Given the description of an element on the screen output the (x, y) to click on. 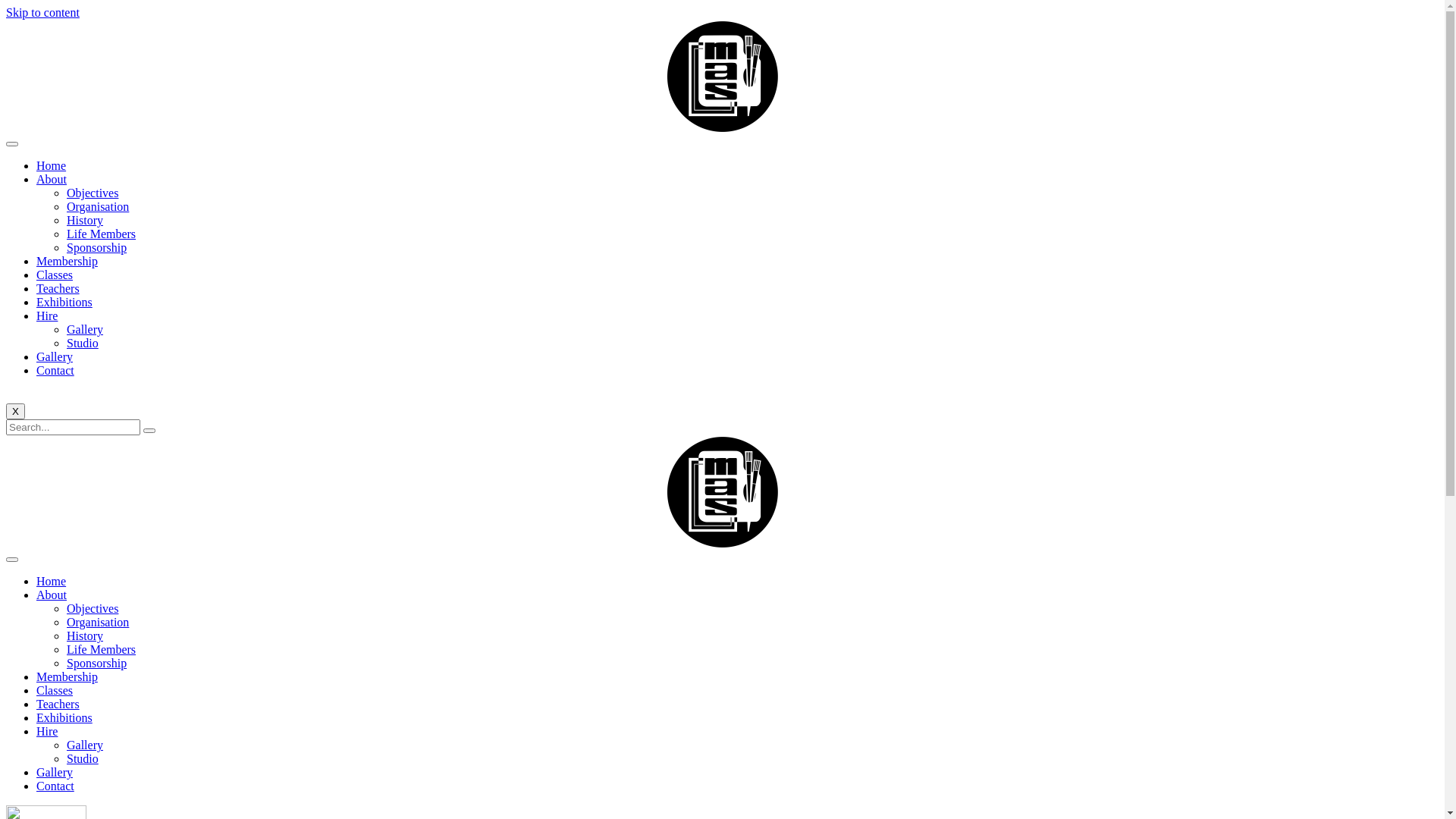
Gallery Element type: text (54, 356)
Contact Element type: text (55, 370)
About Element type: text (51, 594)
Objectives Element type: text (92, 192)
Organisation Element type: text (97, 206)
Home Element type: text (50, 165)
Exhibitions Element type: text (64, 717)
Membership Element type: text (66, 260)
Studio Element type: text (82, 758)
Studio Element type: text (82, 342)
Life Members Element type: text (100, 233)
Life Members Element type: text (100, 649)
Home Element type: text (50, 580)
Contact Element type: text (55, 785)
Skip to content Element type: text (42, 12)
Gallery Element type: text (84, 744)
Classes Element type: text (54, 274)
Gallery Element type: text (84, 329)
Objectives Element type: text (92, 608)
Sponsorship Element type: text (96, 662)
Teachers Element type: text (57, 703)
History Element type: text (84, 635)
Membership Element type: text (66, 676)
Teachers Element type: text (57, 288)
Sponsorship Element type: text (96, 247)
Exhibitions Element type: text (64, 301)
History Element type: text (84, 219)
About Element type: text (51, 178)
Hire Element type: text (46, 315)
Gallery Element type: text (54, 771)
Organisation Element type: text (97, 621)
Classes Element type: text (54, 690)
X Element type: text (15, 411)
Hire Element type: text (46, 730)
